Given the description of an element on the screen output the (x, y) to click on. 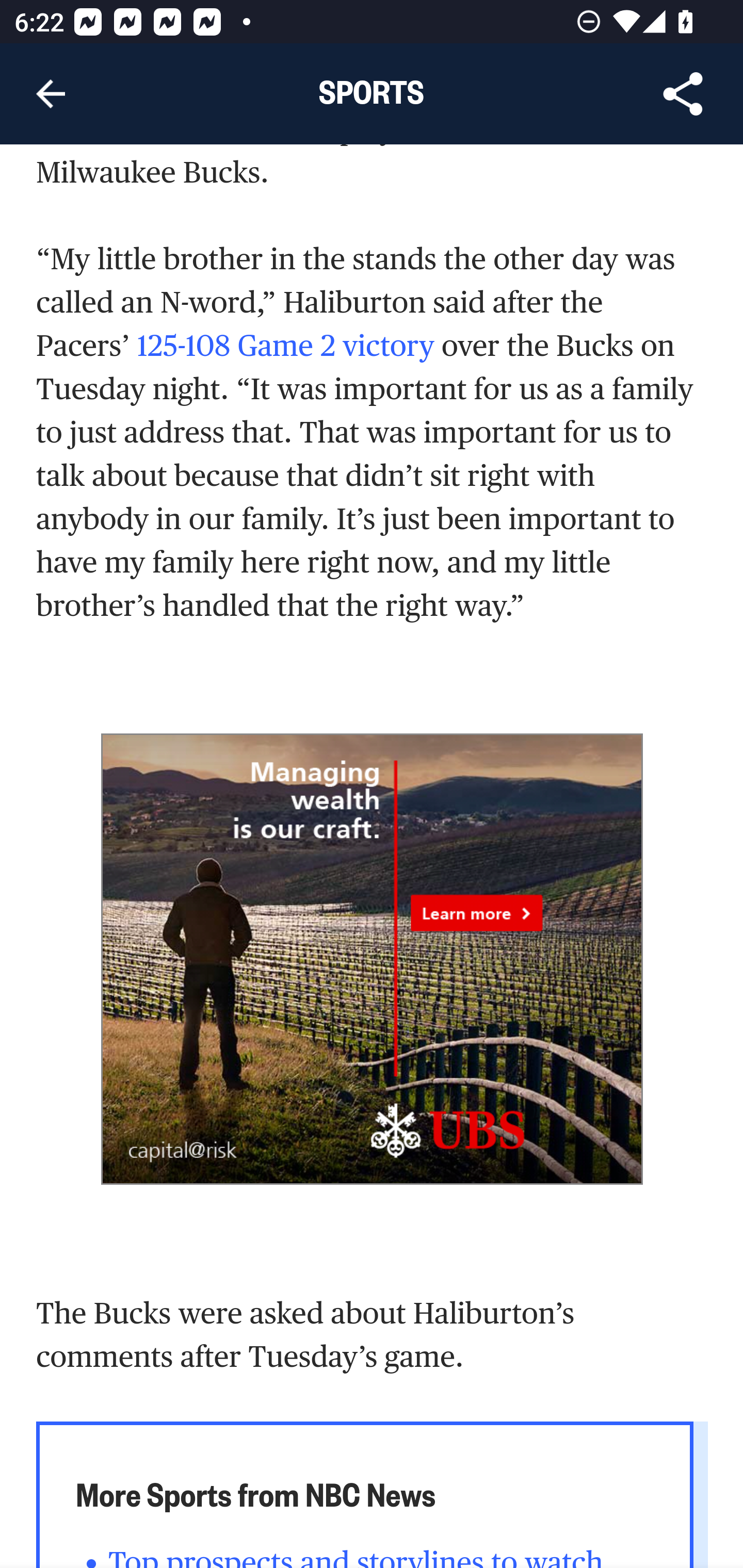
Navigate up (50, 93)
Share Article, button (683, 94)
125-108 Game 2 victory (284, 347)
